Given the description of an element on the screen output the (x, y) to click on. 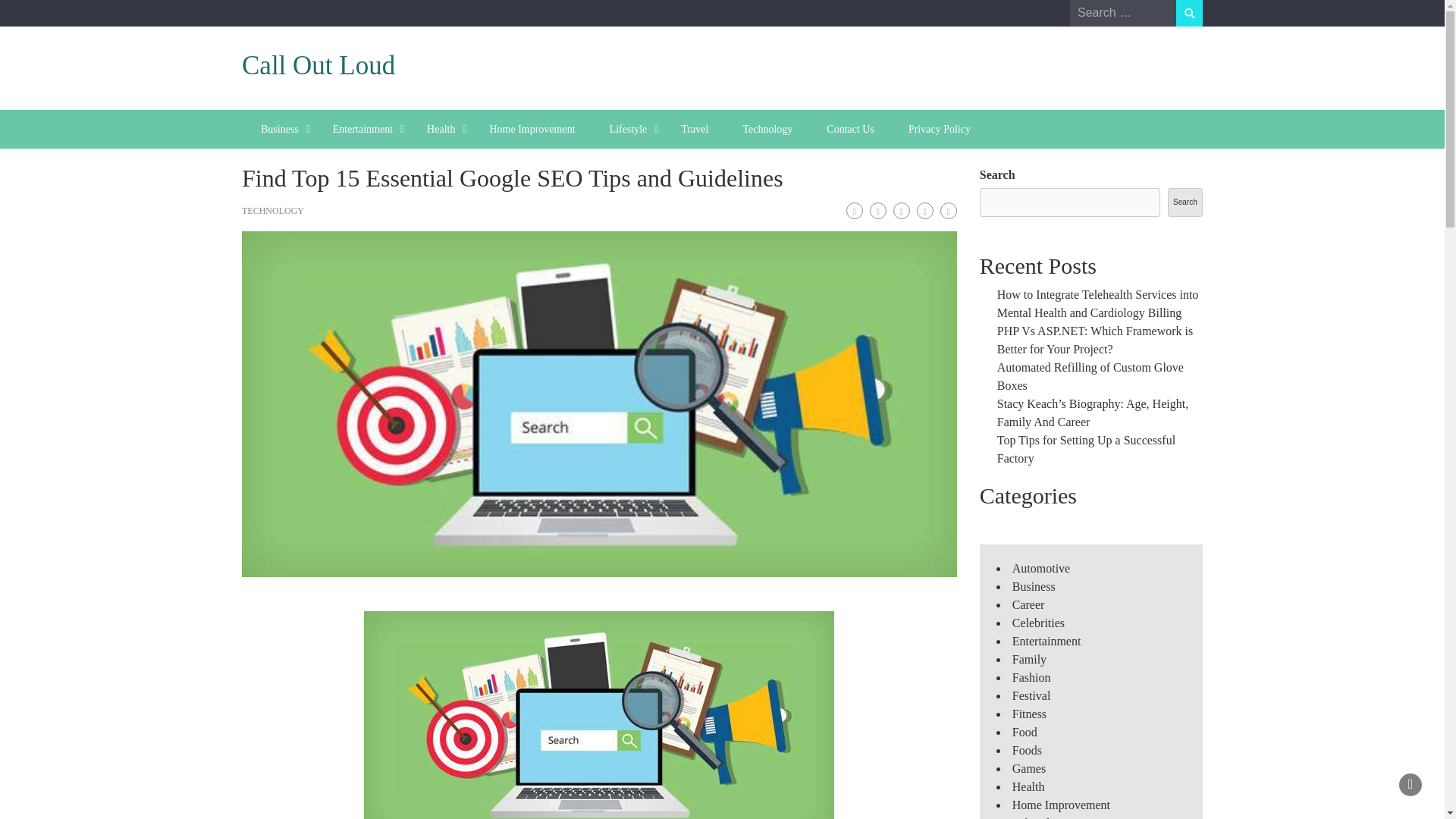
Search (1189, 13)
Business (280, 128)
Search (1189, 13)
Search (1189, 13)
PHP Vs ASP.NET: Which Framework is Better for Your Project? (1094, 339)
Health (441, 128)
Call Out Loud (317, 65)
Search for: (1123, 12)
Automated Refilling of Custom Glove Boxes (1090, 376)
TECHNOLOGY (272, 210)
Search (1184, 202)
Travel (694, 128)
Technology (767, 128)
Privacy Policy (939, 128)
